Given the description of an element on the screen output the (x, y) to click on. 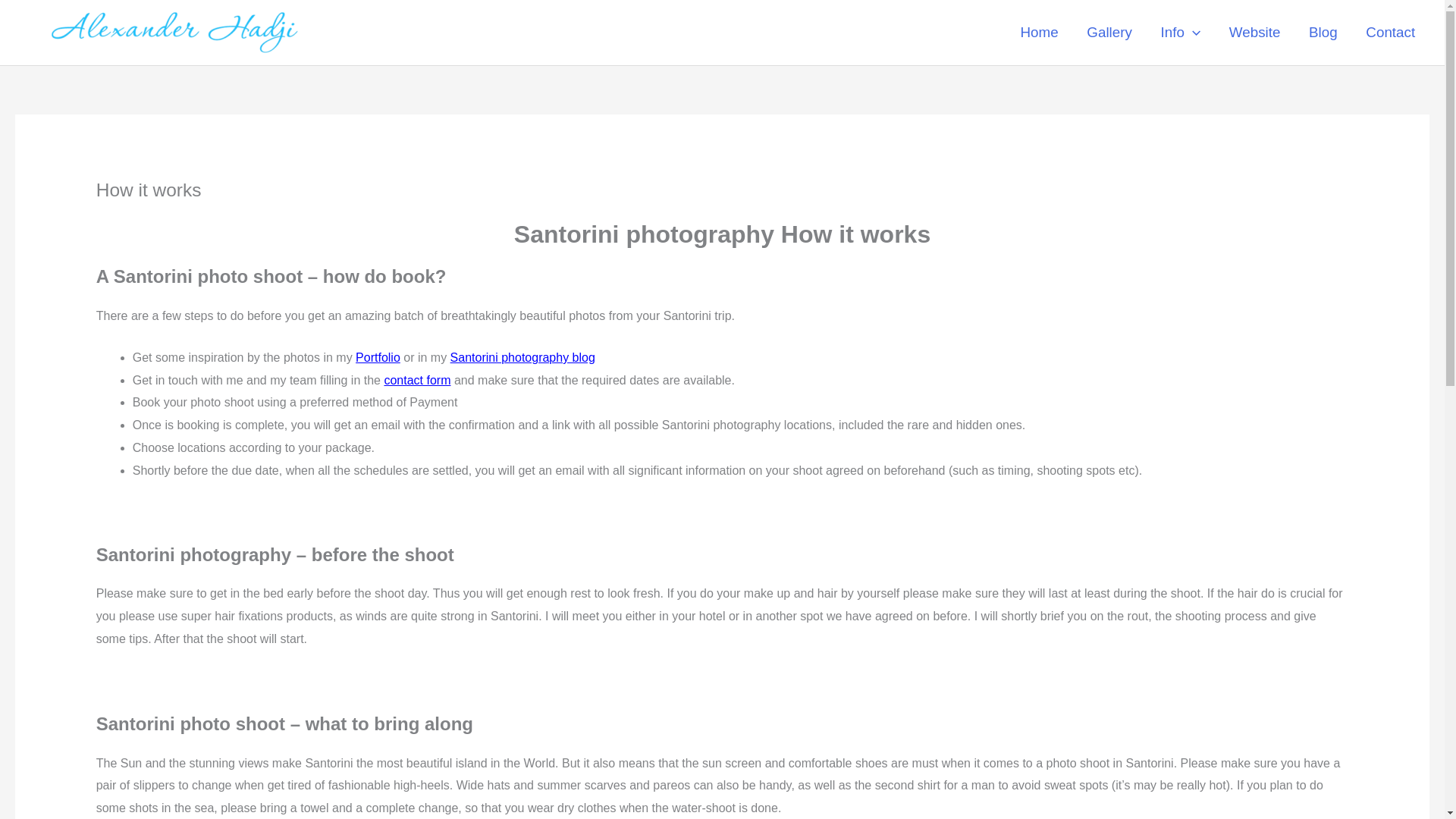
Gallery (1108, 31)
Portfolio (377, 357)
Blog (1322, 31)
Home (1039, 31)
contact form (416, 379)
Website (1254, 31)
Contact (1390, 31)
Info (1180, 31)
Santorini photography blog (522, 357)
